Given the description of an element on the screen output the (x, y) to click on. 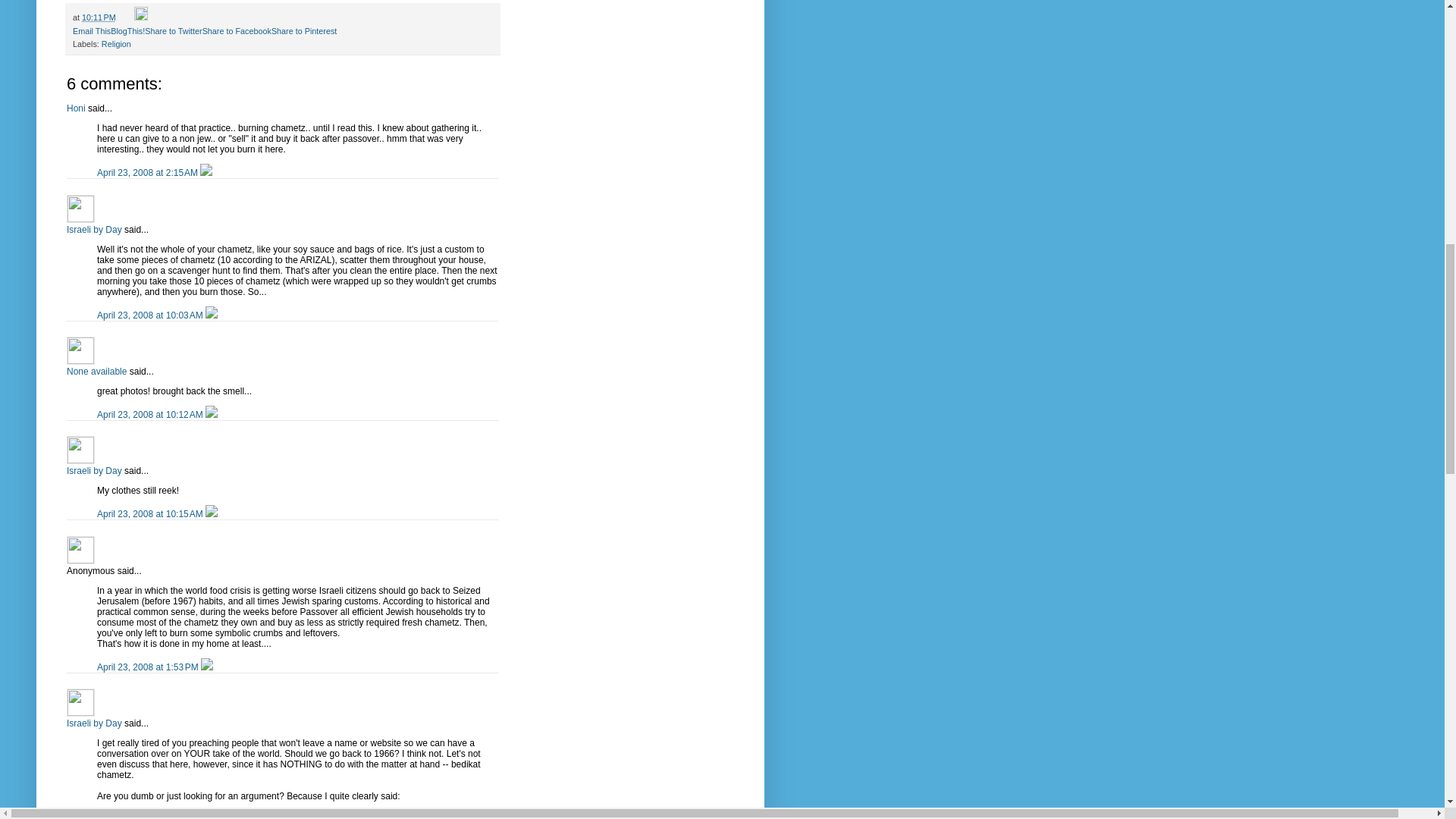
Share to Pinterest (303, 31)
Delete Comment (210, 314)
Israeli by Day (80, 207)
Email This (91, 31)
None available (96, 371)
permanent link (98, 17)
Delete Comment (206, 172)
None available (80, 350)
Edit Post (140, 17)
Honi (75, 108)
Share to Facebook (236, 31)
